Given the description of an element on the screen output the (x, y) to click on. 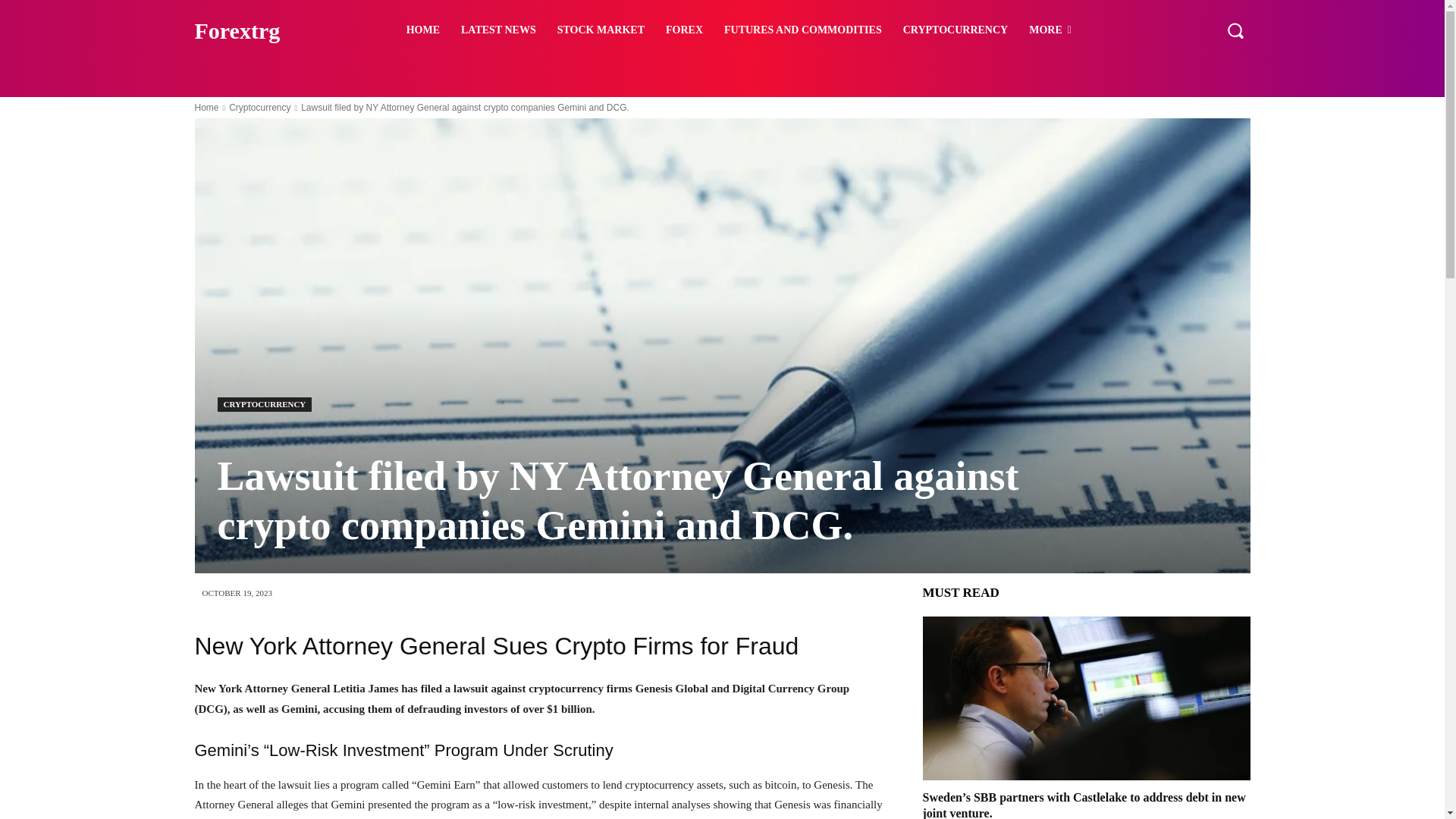
STOCK MARKET (601, 30)
Forextrg (273, 30)
Home (205, 107)
LATEST NEWS (498, 30)
View all posts in Cryptocurrency (258, 107)
HOME (422, 30)
Cryptocurrency (258, 107)
FOREX (684, 30)
CRYPTOCURRENCY (954, 30)
CRYPTOCURRENCY (263, 404)
FUTURES AND COMMODITIES (802, 30)
